Given the description of an element on the screen output the (x, y) to click on. 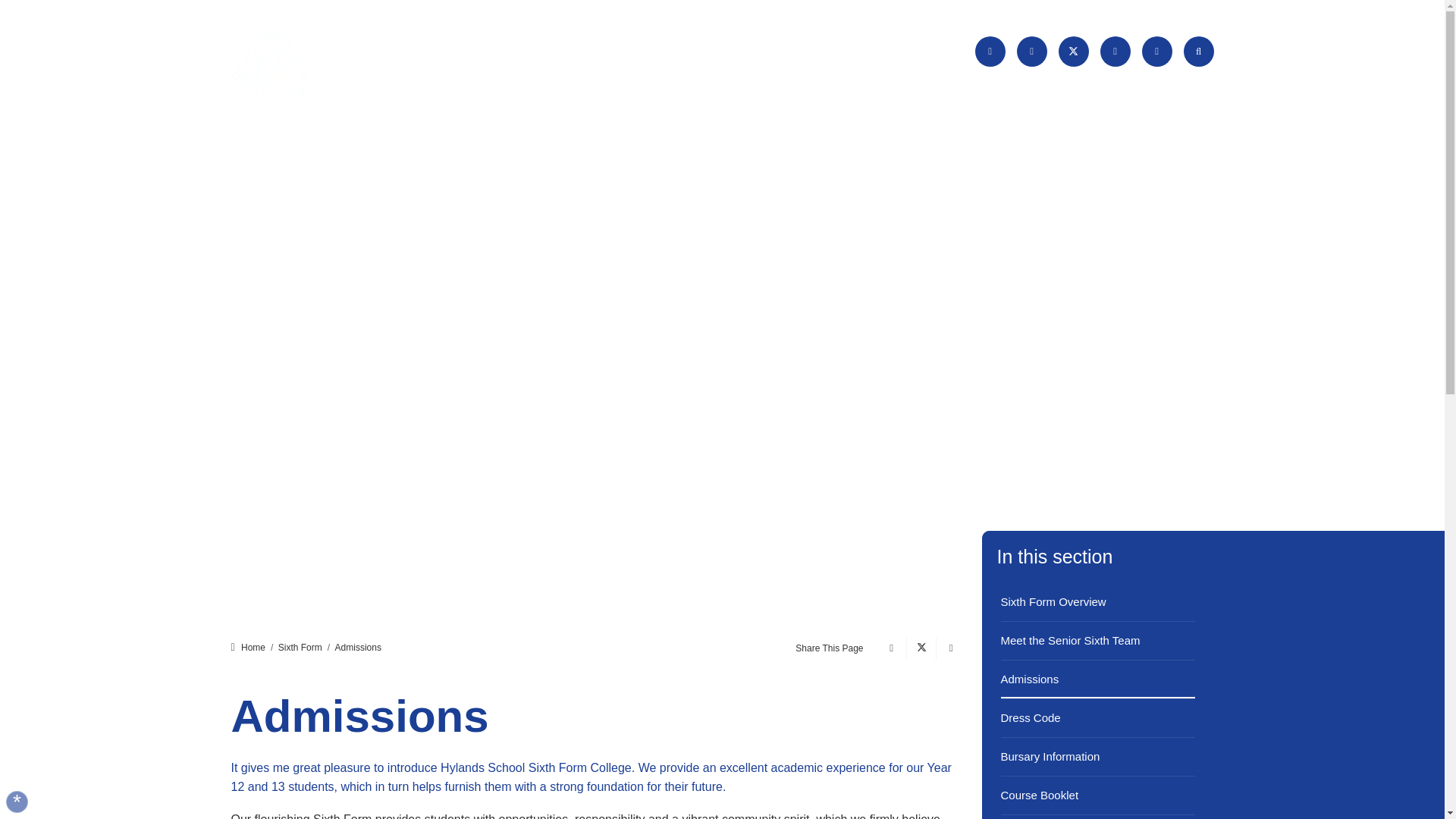
Translate (830, 50)
Share on X (918, 648)
Facebook (1031, 51)
Our Learning (794, 87)
Share on Facebook (889, 648)
YouTube (1156, 51)
X (1073, 51)
About Us (726, 87)
Quick Links (921, 50)
Hylands School (319, 68)
